Given the description of an element on the screen output the (x, y) to click on. 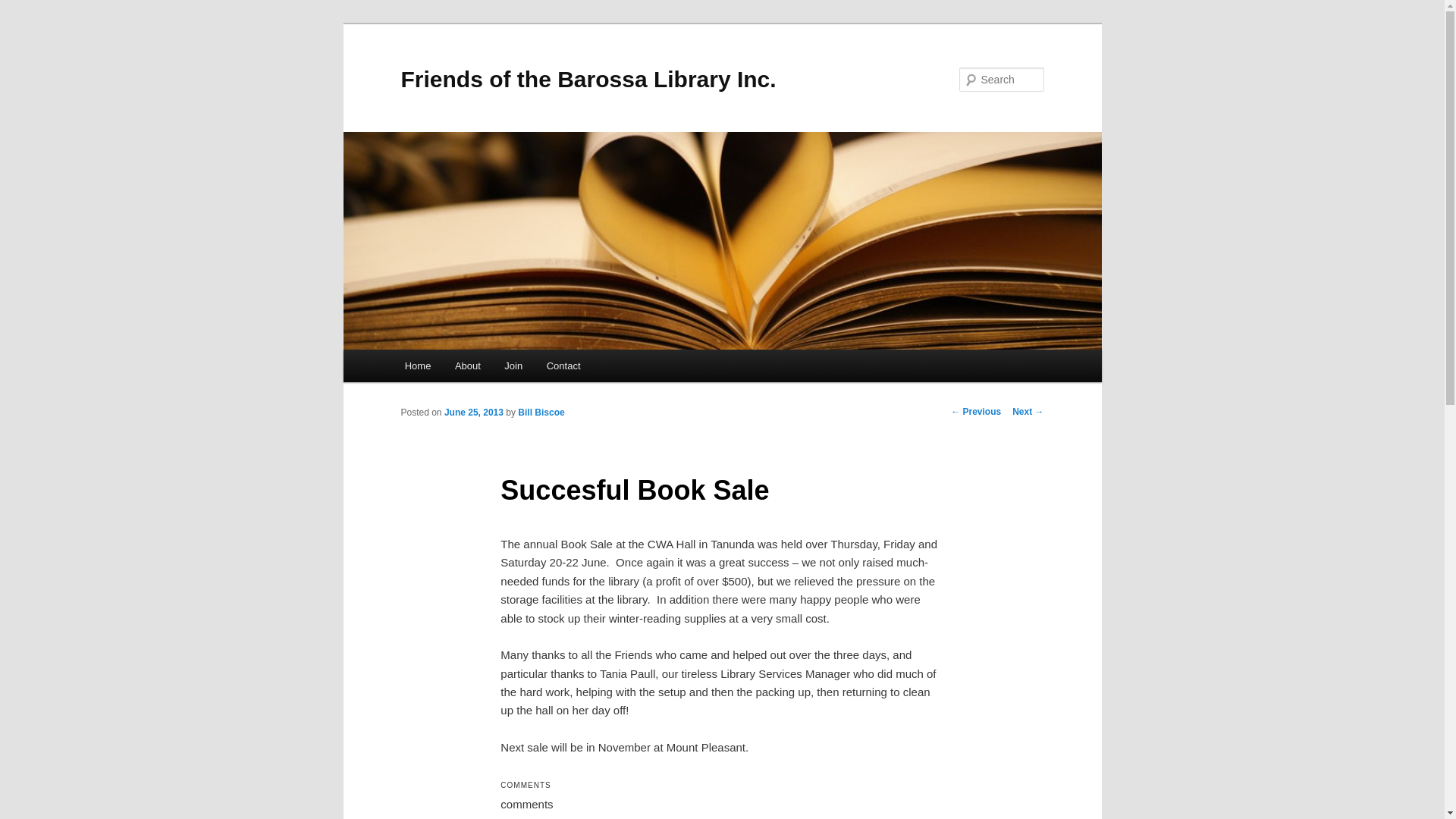
Skip to primary content Element type: text (22, 22)
Bill Biscoe Element type: text (540, 412)
Contact Element type: text (563, 365)
Friends of the Barossa Library Inc. Element type: text (587, 78)
Search Element type: text (24, 8)
June 25, 2013 Element type: text (473, 412)
Join Element type: text (513, 365)
Home Element type: text (417, 365)
About Element type: text (467, 365)
